Given the description of an element on the screen output the (x, y) to click on. 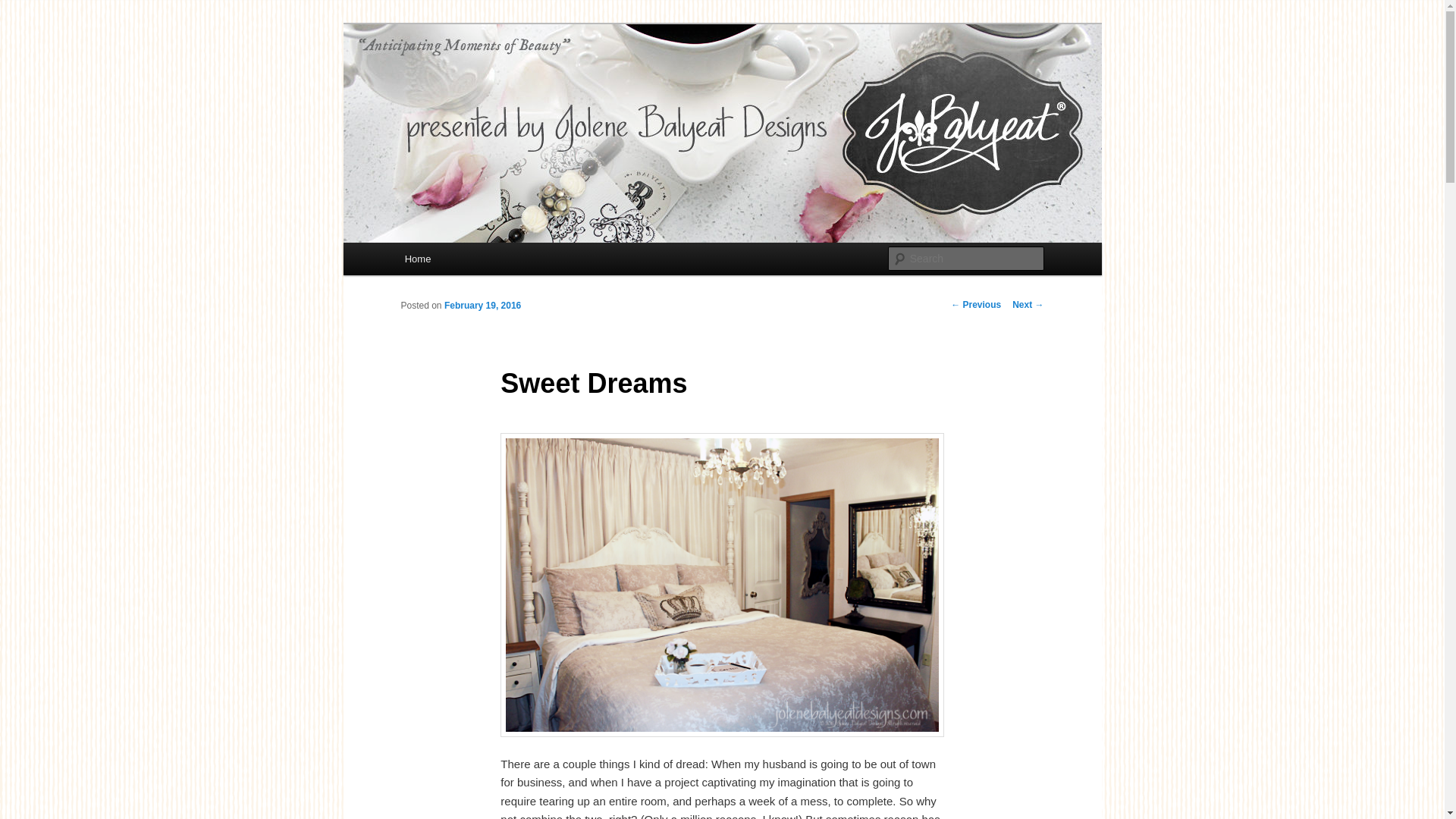
February 19, 2016 (482, 305)
11:51 AM (482, 305)
Search (24, 8)
Home (417, 258)
Jolene Balyeat Designs (526, 78)
